Given the description of an element on the screen output the (x, y) to click on. 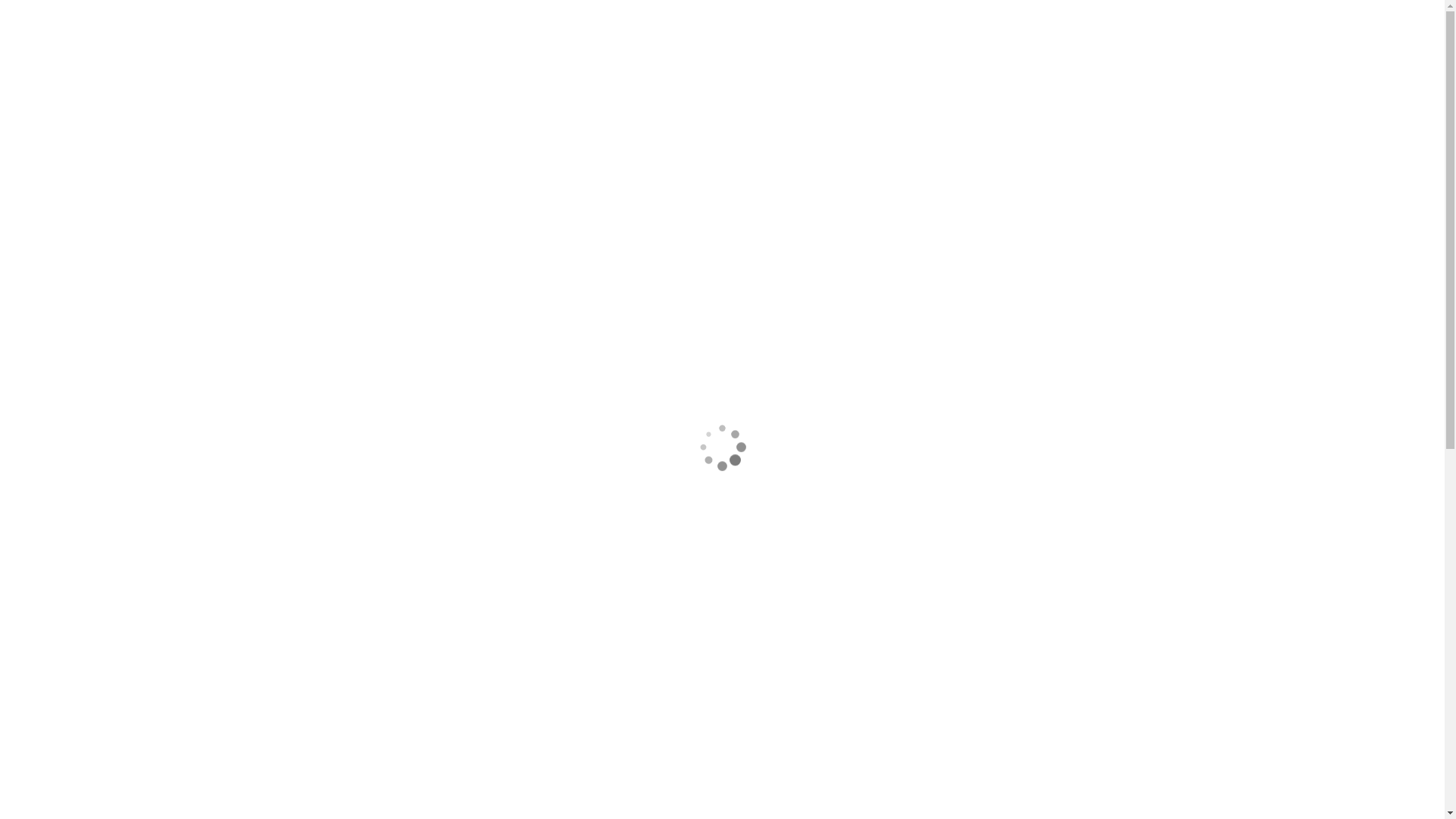
HARM REDUCTION Element type: text (609, 161)
RESEARCH Element type: text (510, 161)
Psychedelic Research in Science & Medicine Element type: hover (592, 83)
0 Element type: text (966, 160)
CONTACT Element type: text (874, 161)
MEDIA Element type: text (806, 161)
HOME Element type: text (319, 161)
ABOUT Element type: text (382, 161)
SUPPORT PRISM Element type: text (721, 161)
NEWS Element type: text (442, 161)
